Given the description of an element on the screen output the (x, y) to click on. 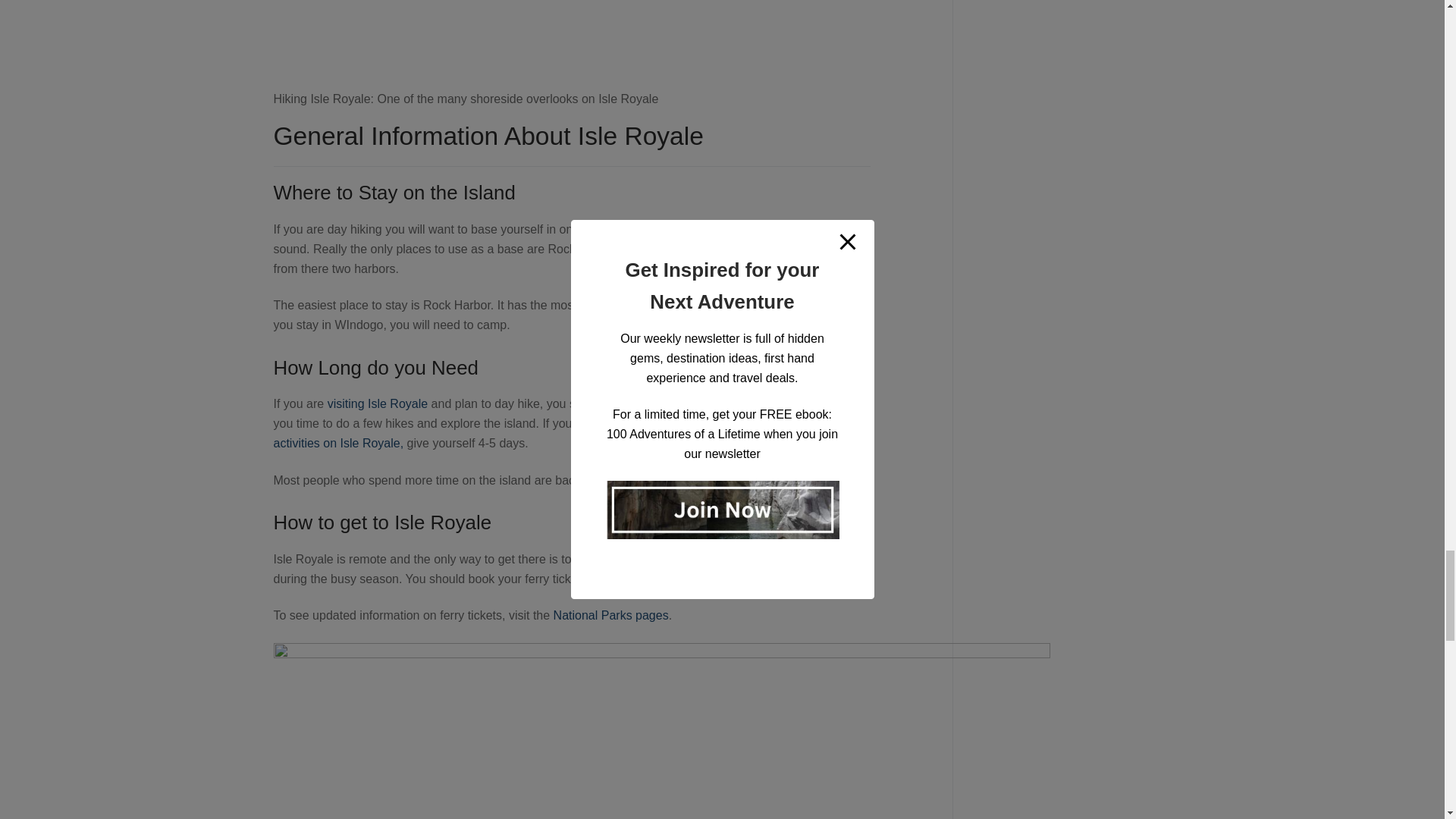
activities on Isle Royale, (338, 442)
National Parks pages (610, 615)
visiting Isle Royale (377, 403)
